Given the description of an element on the screen output the (x, y) to click on. 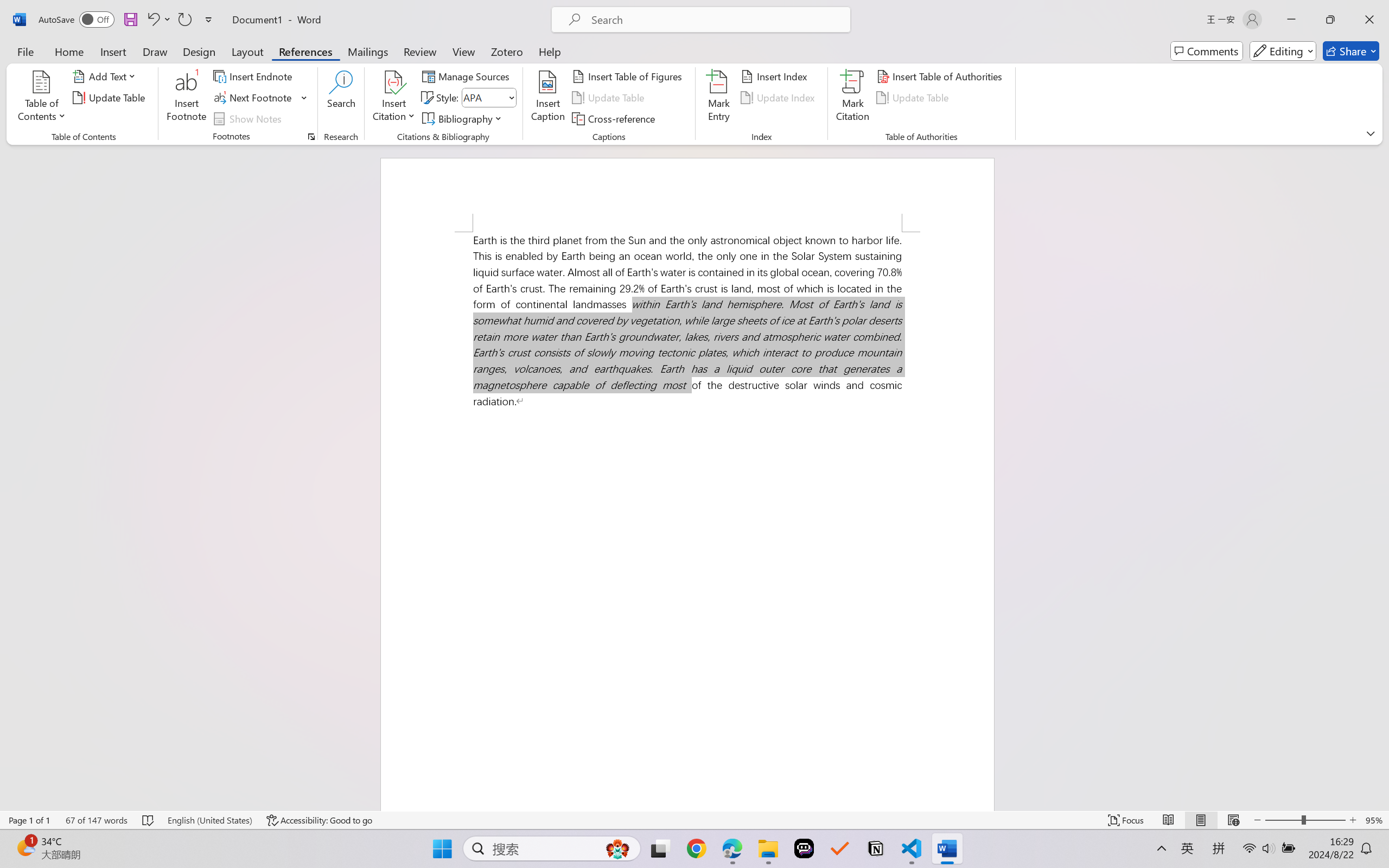
Insert Citation (393, 97)
Class: NetUIScrollBar (1382, 477)
Update Table... (110, 97)
Style (483, 96)
Microsoft search (715, 19)
Table of Contents (42, 97)
Page Number Page 1 of 1 (29, 819)
Undo Italic (158, 19)
